Given the description of an element on the screen output the (x, y) to click on. 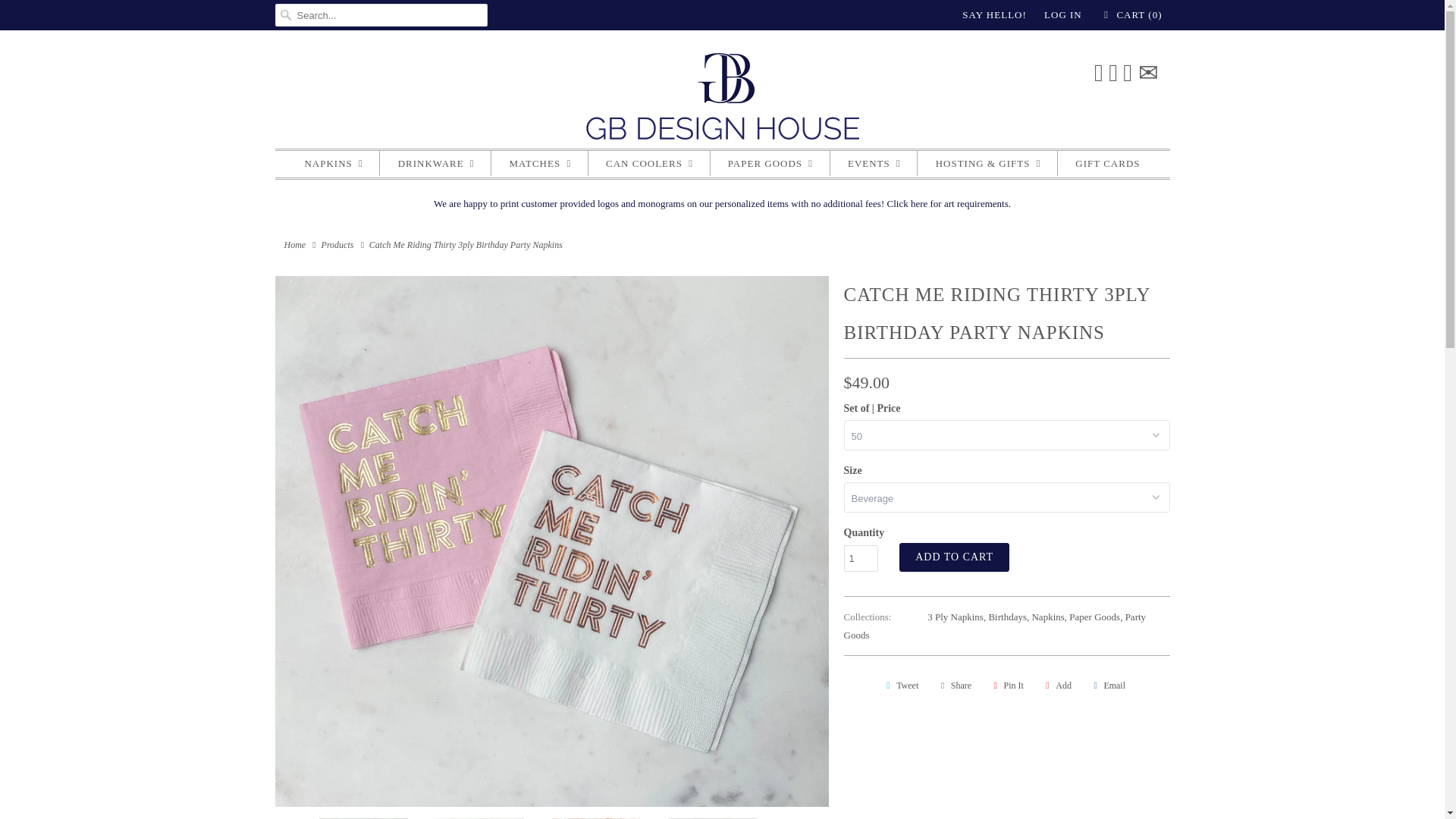
GB Design House on Instagram (1127, 72)
Browse 3 Ply Napkins (955, 616)
LOG IN (1062, 15)
Share this on Twitter (900, 685)
Products (337, 244)
Browse Birthdays (1007, 616)
GB Design House (294, 244)
Browse Napkins (1047, 616)
Share this on Pinterest (1005, 685)
GB Design House on Pinterest (1113, 72)
Email GB Design House (1147, 72)
GB Design House (722, 100)
Browse Paper Goods (1093, 616)
SAY HELLO! (994, 15)
Browse Party Goods (994, 624)
